Given the description of an element on the screen output the (x, y) to click on. 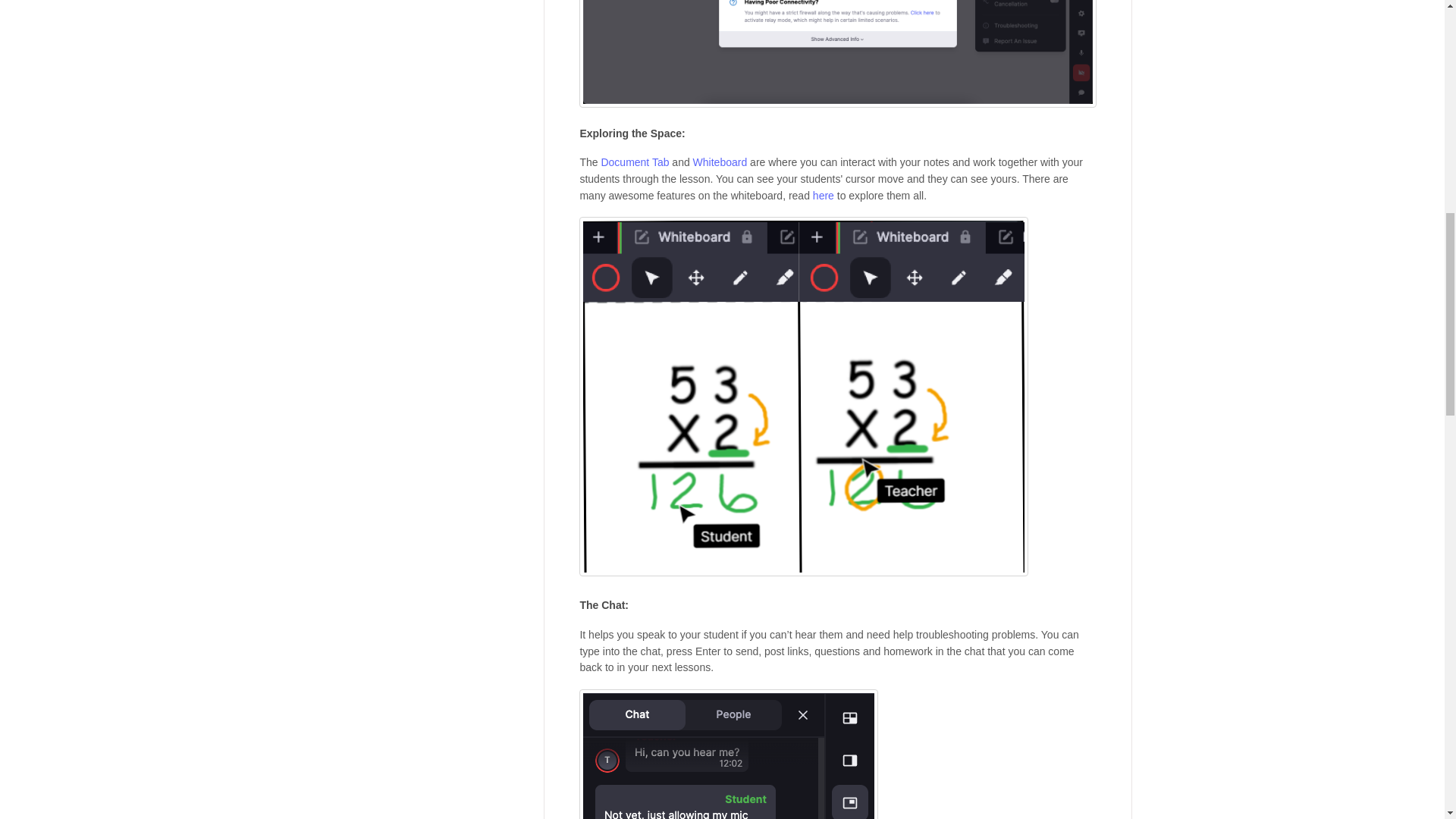
here (823, 195)
Whiteboard (720, 162)
Document Tab (633, 162)
